Given the description of an element on the screen output the (x, y) to click on. 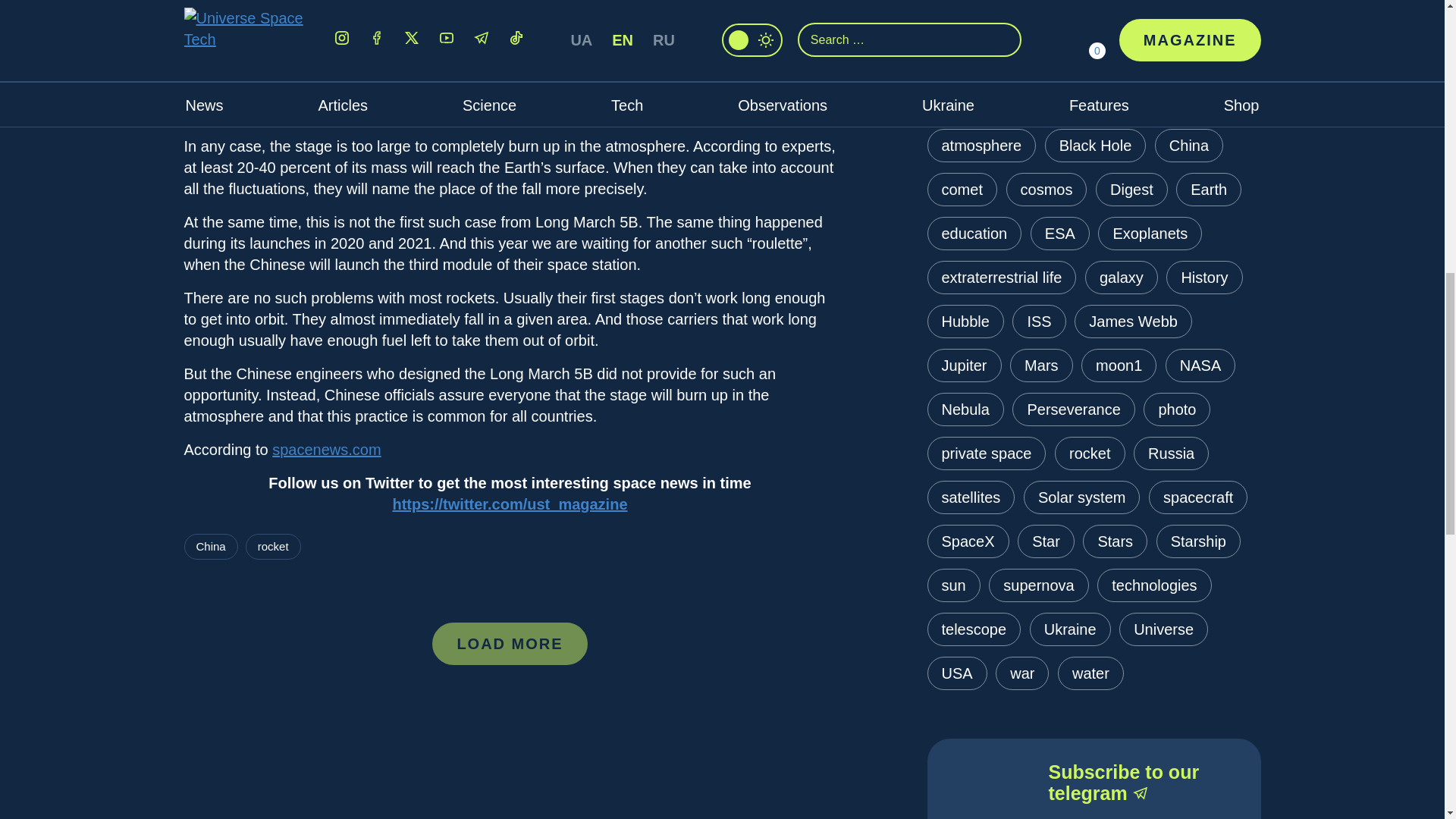
spacenews.com (326, 449)
rocket (273, 546)
China (210, 546)
LOAD MORE (509, 642)
